Given the description of an element on the screen output the (x, y) to click on. 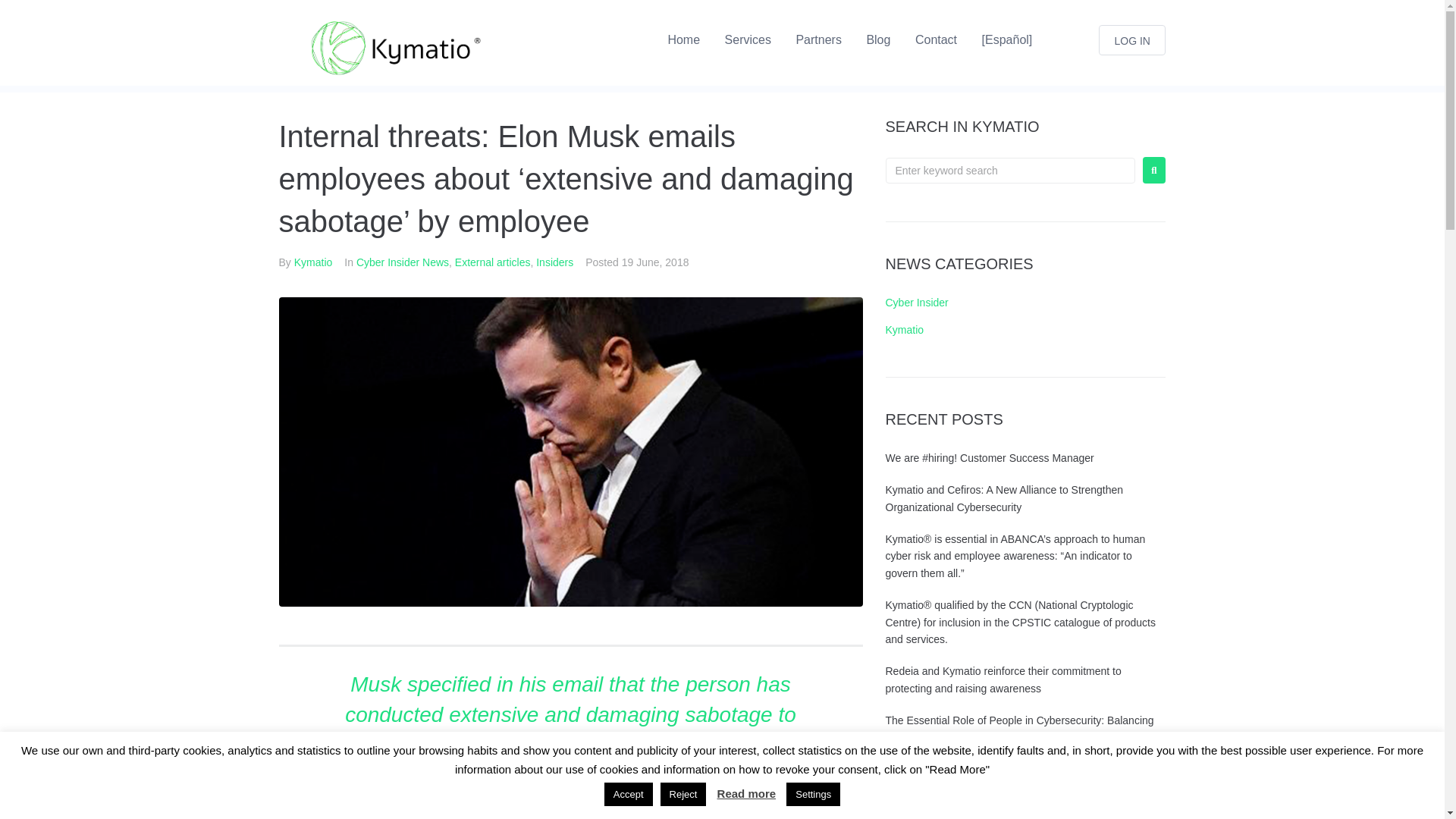
Insiders (554, 262)
Home (683, 38)
Contact (936, 38)
Partners (818, 38)
Blog (877, 38)
Kymatio (313, 262)
Services (748, 38)
Kymatio (904, 329)
Cyber Insider News (402, 262)
